Given the description of an element on the screen output the (x, y) to click on. 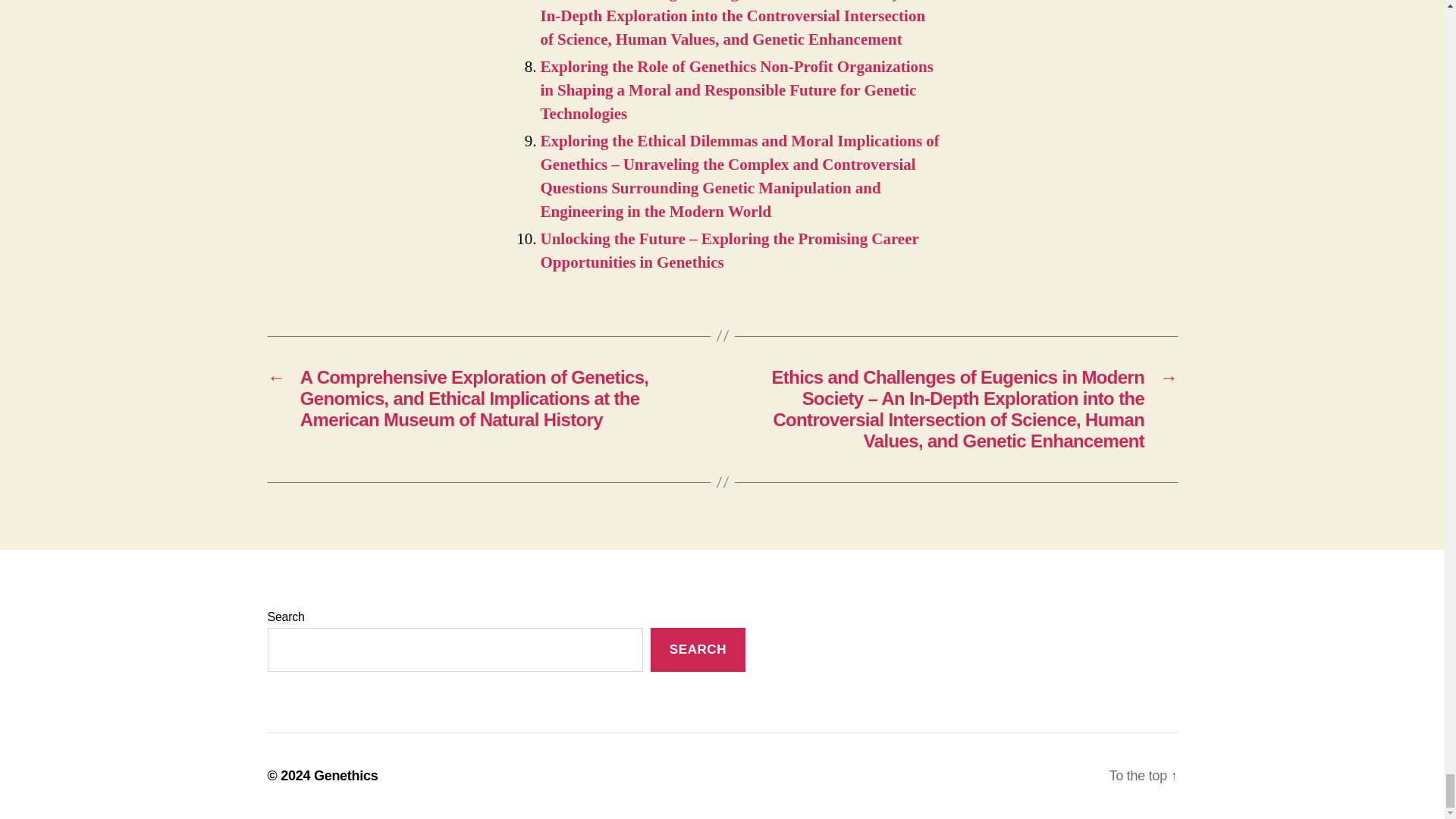
SEARCH (697, 650)
Genethics (346, 775)
